Given the description of an element on the screen output the (x, y) to click on. 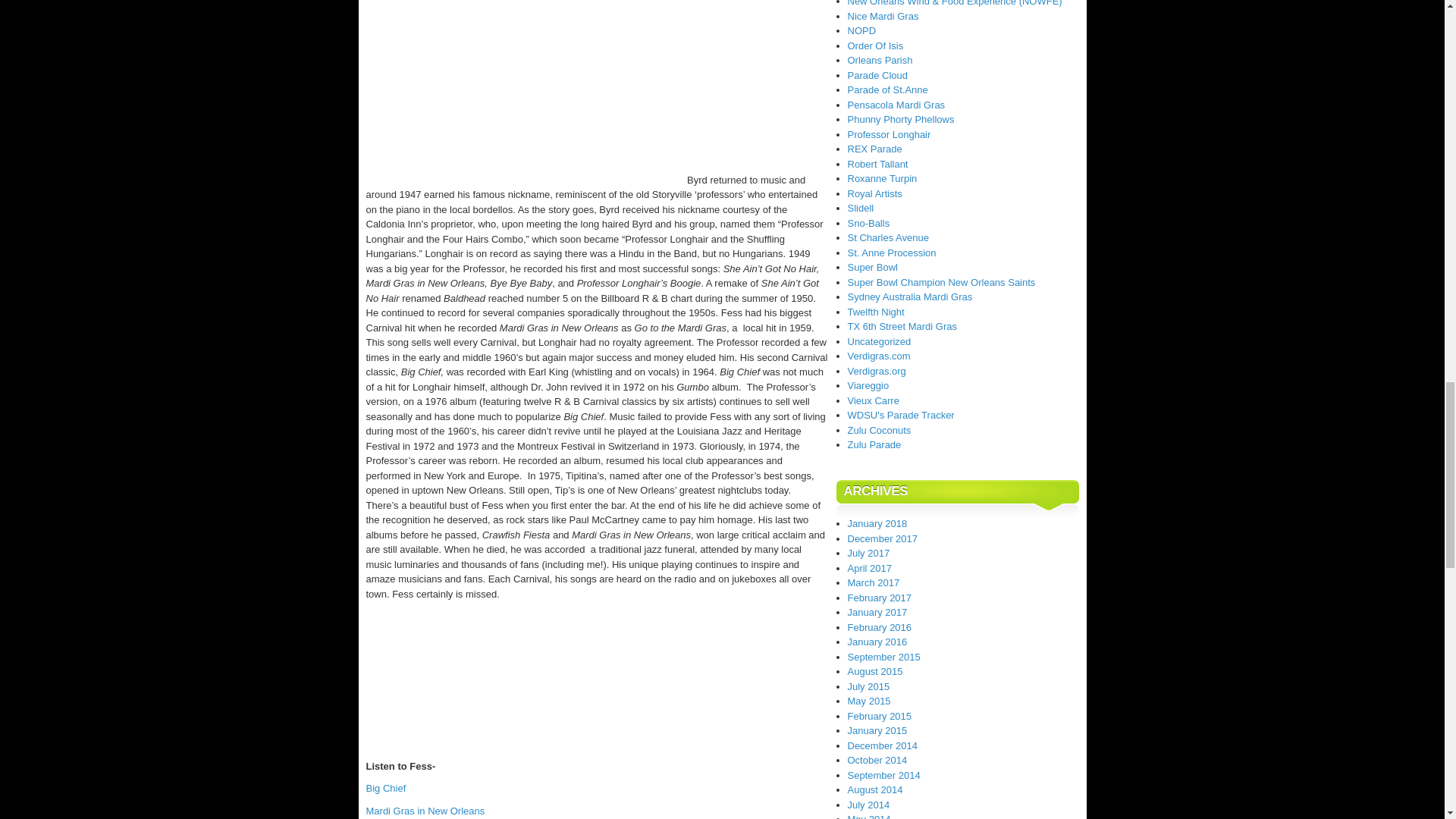
Advertisement (641, 714)
Big Chief (385, 787)
Mardi Gras in New Orleans (424, 810)
